Given the description of an element on the screen output the (x, y) to click on. 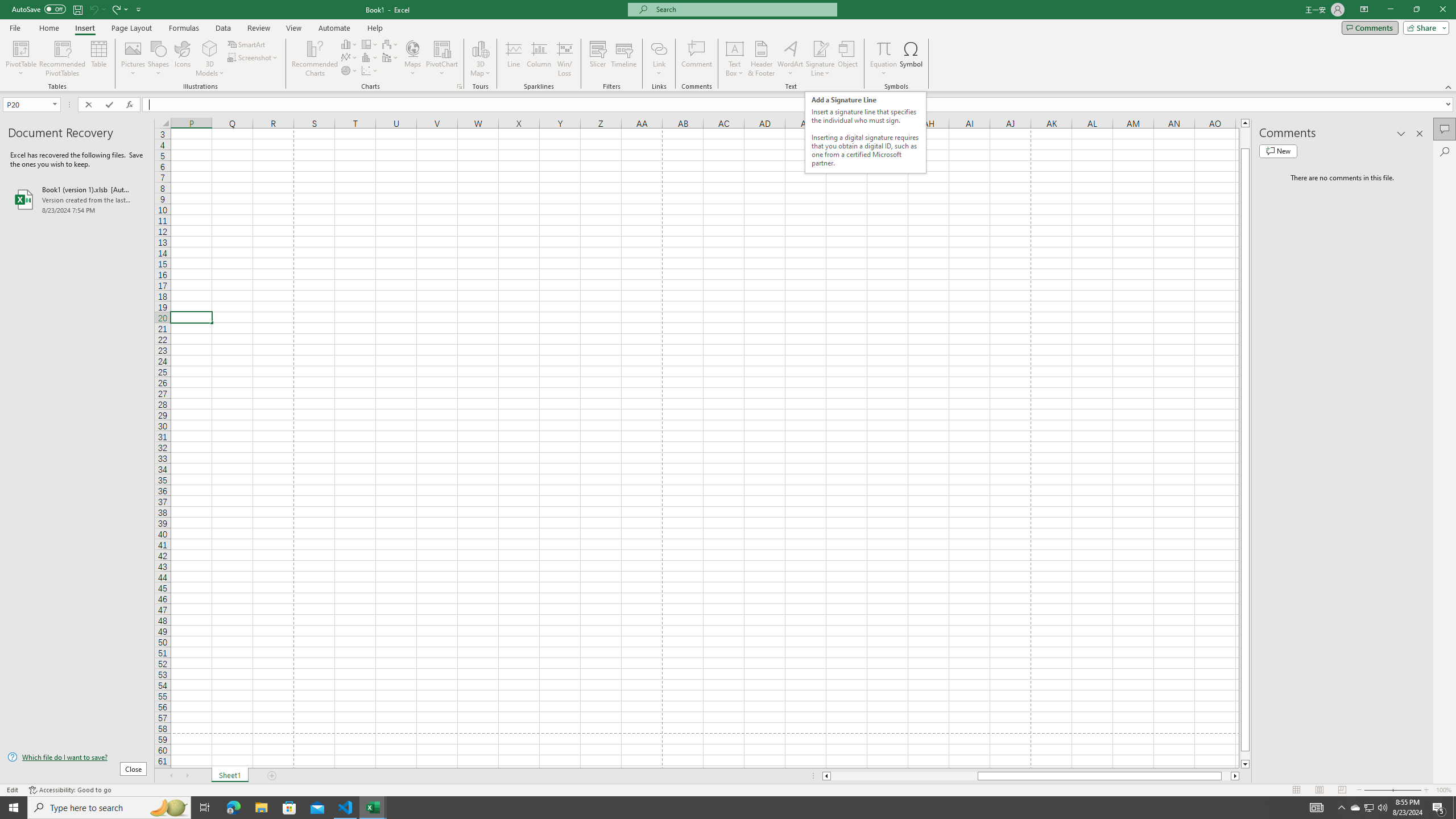
Insert Scatter (X, Y) or Bubble Chart (369, 69)
Draw Horizontal Text Box (734, 48)
PivotTable (20, 48)
Icons (182, 58)
3D Map (480, 48)
Shapes (158, 58)
Link (659, 48)
Insert Combo Chart (390, 56)
Equation (883, 58)
